Given the description of an element on the screen output the (x, y) to click on. 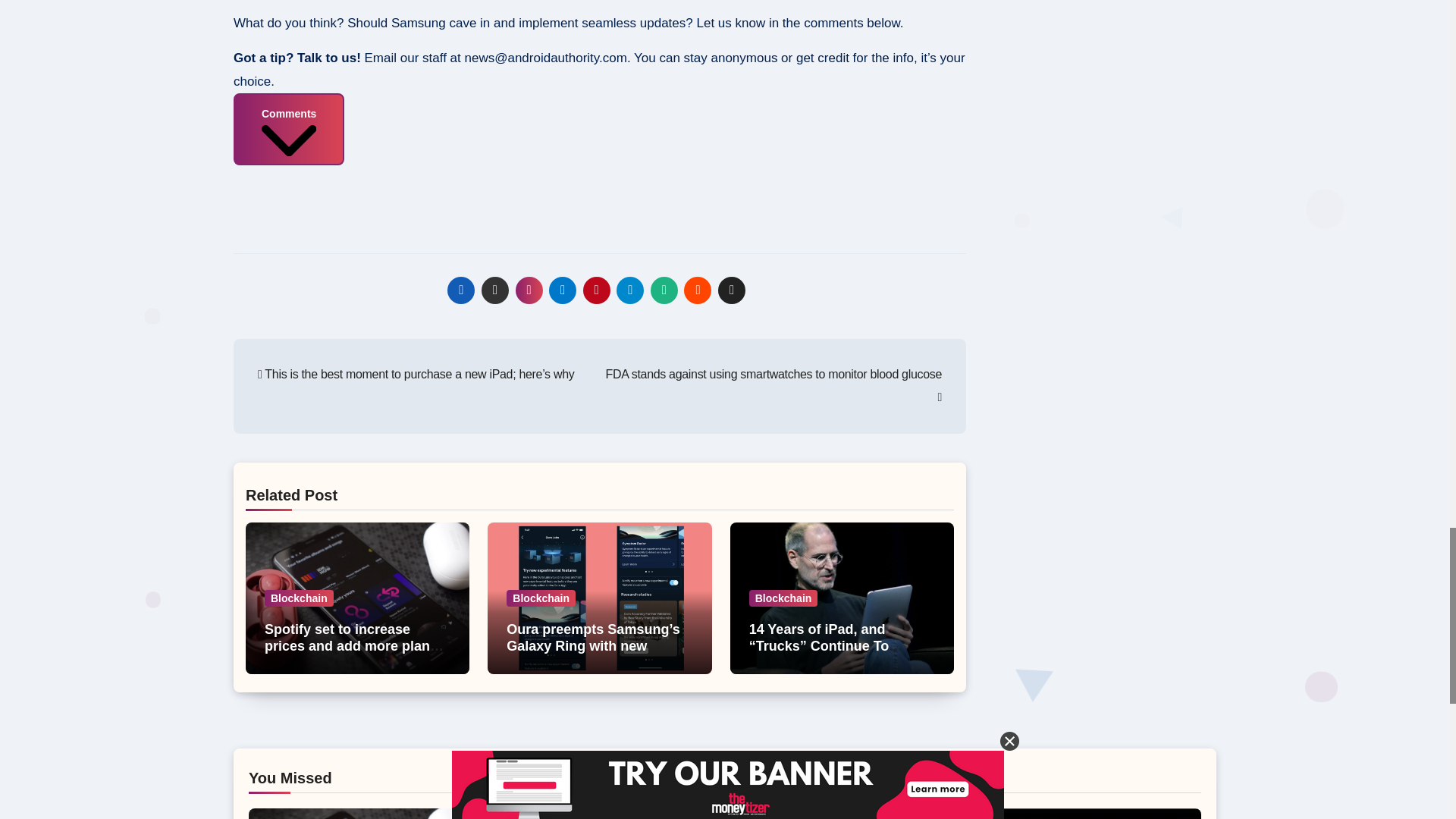
Blockchain (540, 597)
Comments (287, 129)
Blockchain (783, 597)
Blockchain (298, 597)
Spotify set to increase prices and add more plans soon (354, 645)
